Given the description of an element on the screen output the (x, y) to click on. 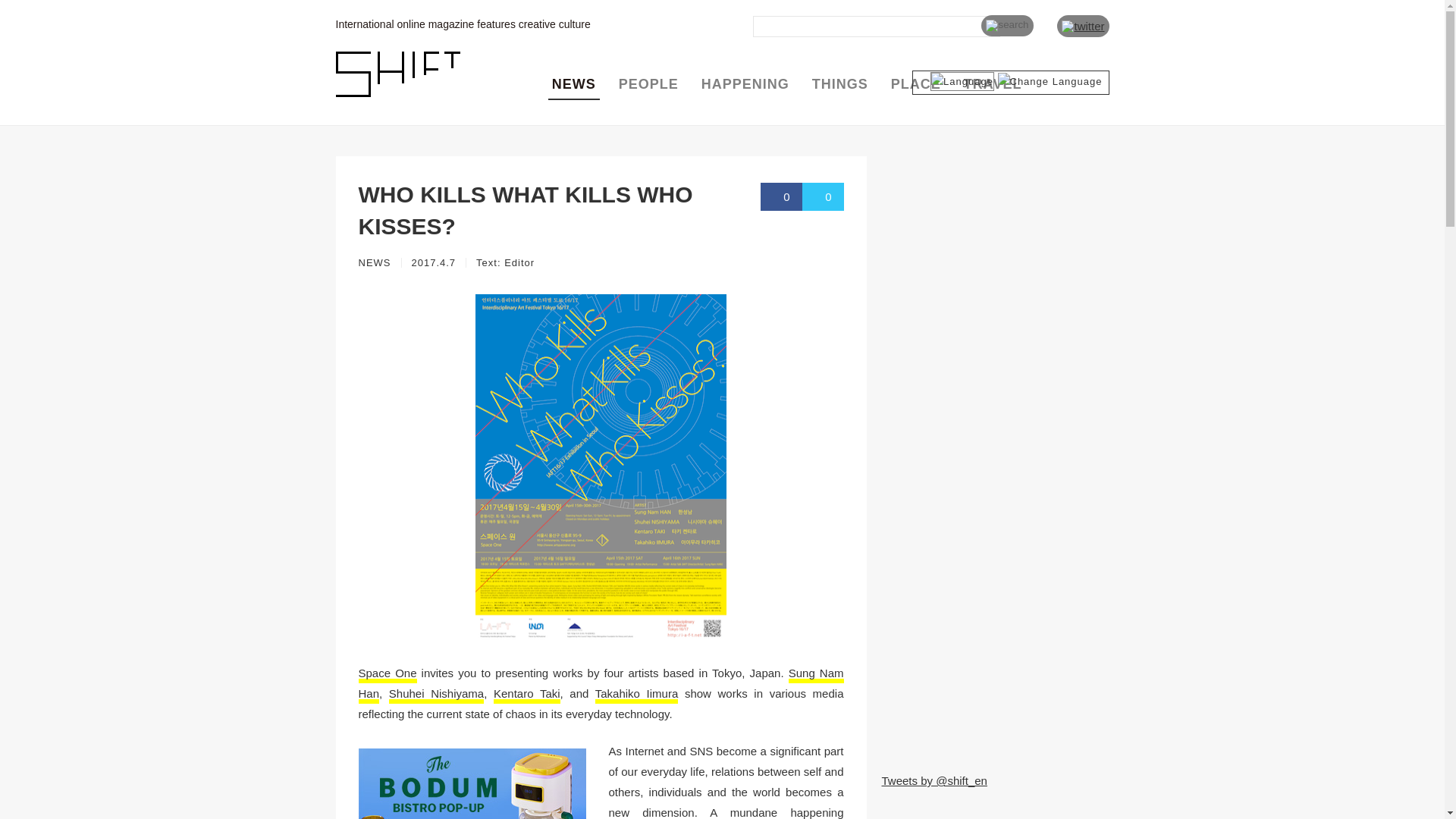
Editor (518, 262)
NEWS (374, 262)
NEWS (573, 84)
HAPPENING (745, 84)
Shuhei Nishiyama (435, 693)
TRAVEL (992, 84)
Sung Nam Han (600, 683)
Takahiko Iimura (636, 693)
PEOPLE (648, 84)
Kentaro Taki (526, 693)
